Given the description of an element on the screen output the (x, y) to click on. 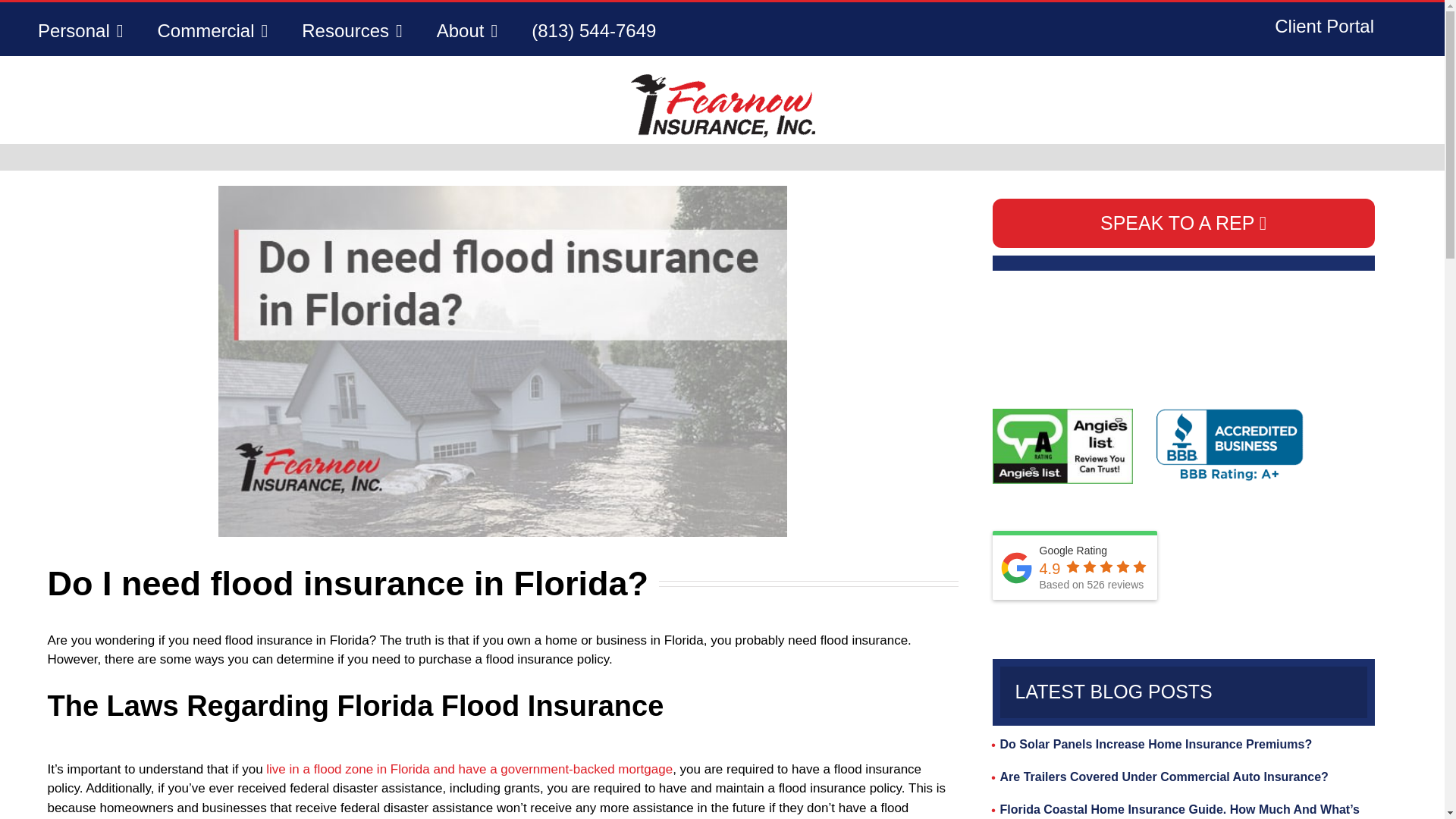
Client Portal (1324, 26)
Commercial (212, 29)
Personal (80, 29)
